Given the description of an element on the screen output the (x, y) to click on. 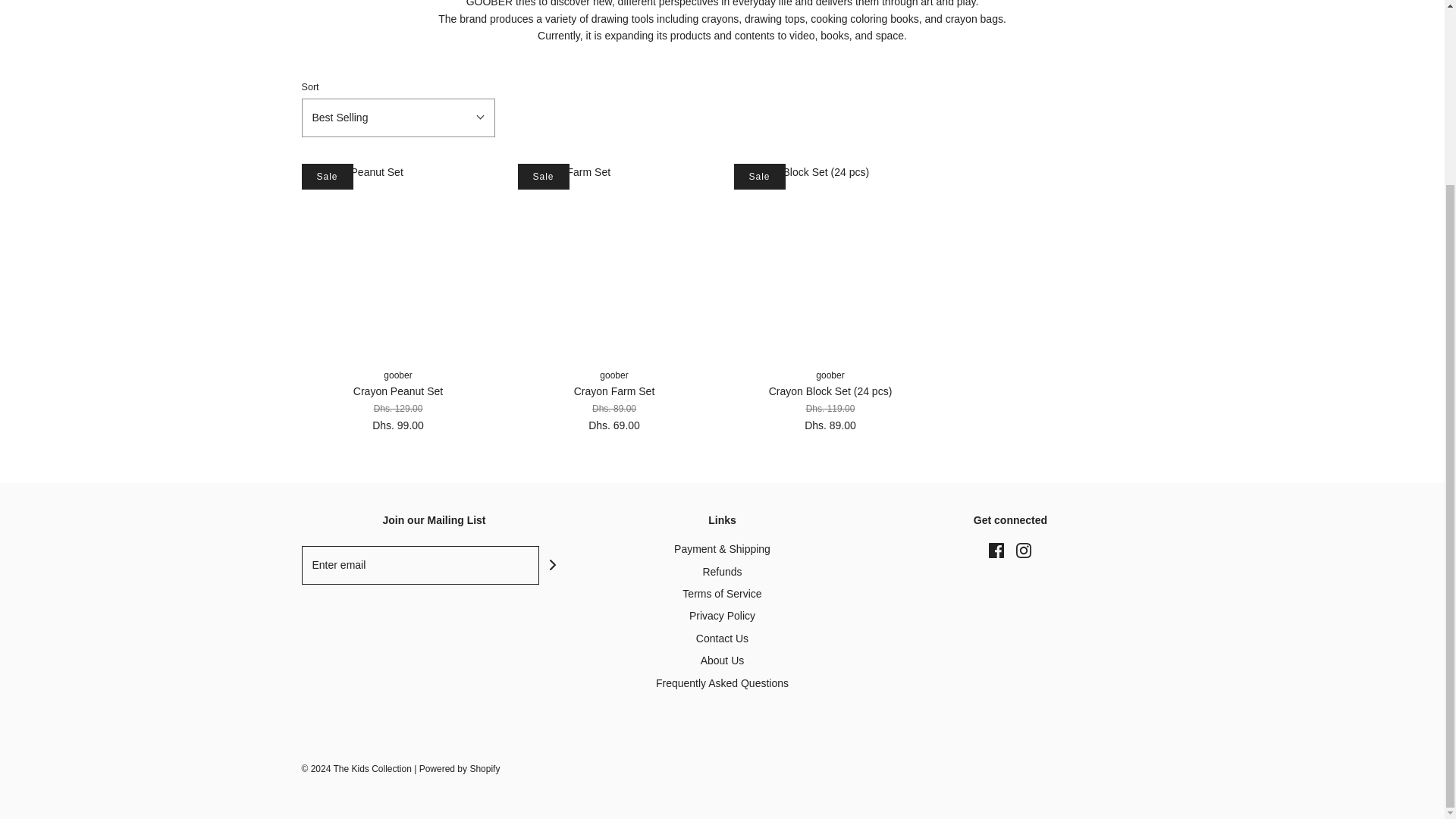
goober (613, 375)
Facebook icon (996, 549)
goober (398, 375)
Instagram icon (1023, 549)
goober (829, 375)
Crayon Farm Set (613, 260)
Crayon Peanut Set (398, 260)
